Given the description of an element on the screen output the (x, y) to click on. 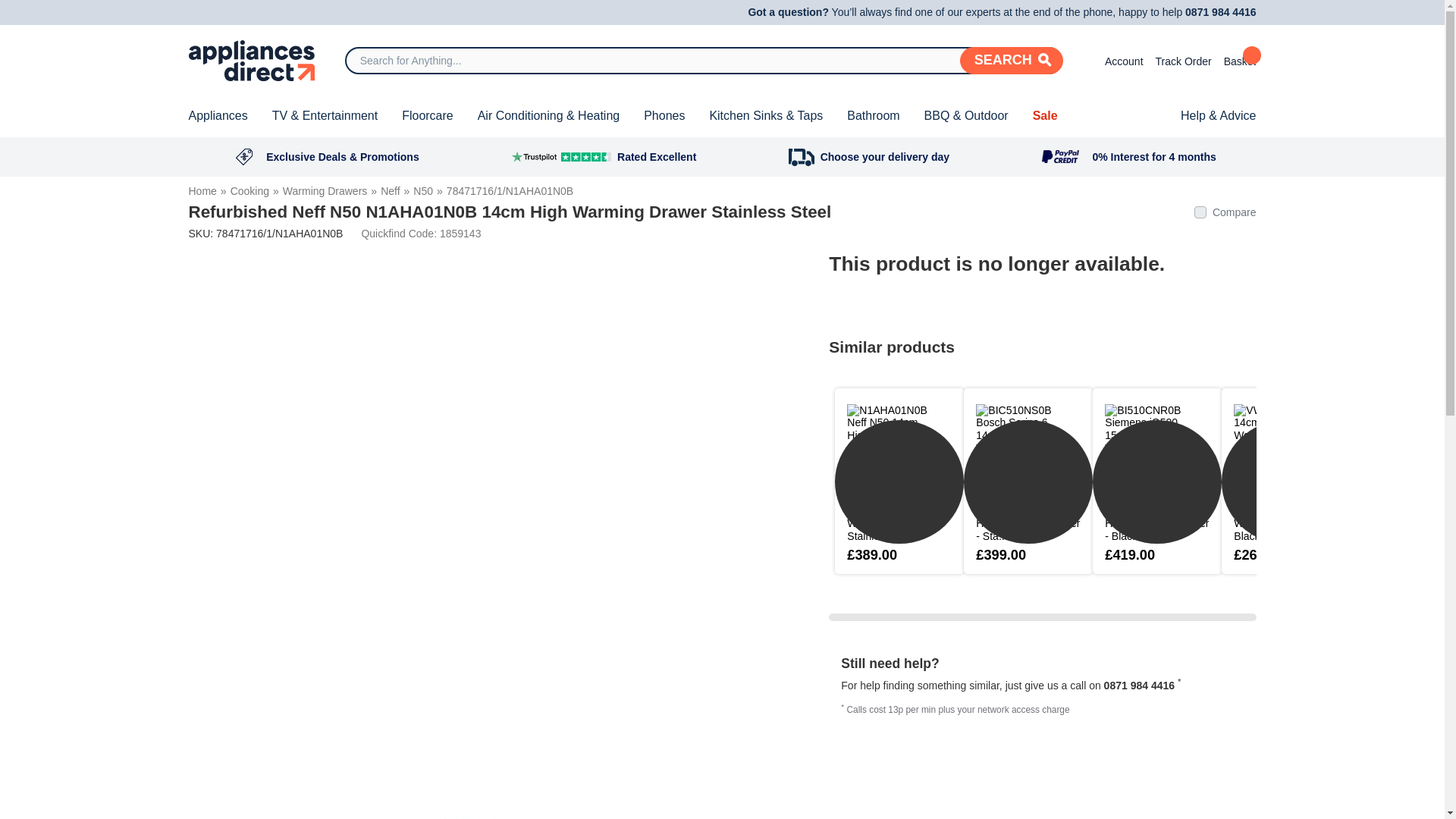
Account (1117, 59)
Appliances Direct (250, 60)
Search (1010, 60)
Your basket contains (1240, 59)
Search (1010, 60)
Search (1010, 60)
Appliances Direct Order Tracking (1183, 59)
Search for Anything... (703, 60)
Appliances (217, 115)
Search (1010, 60)
